Given the description of an element on the screen output the (x, y) to click on. 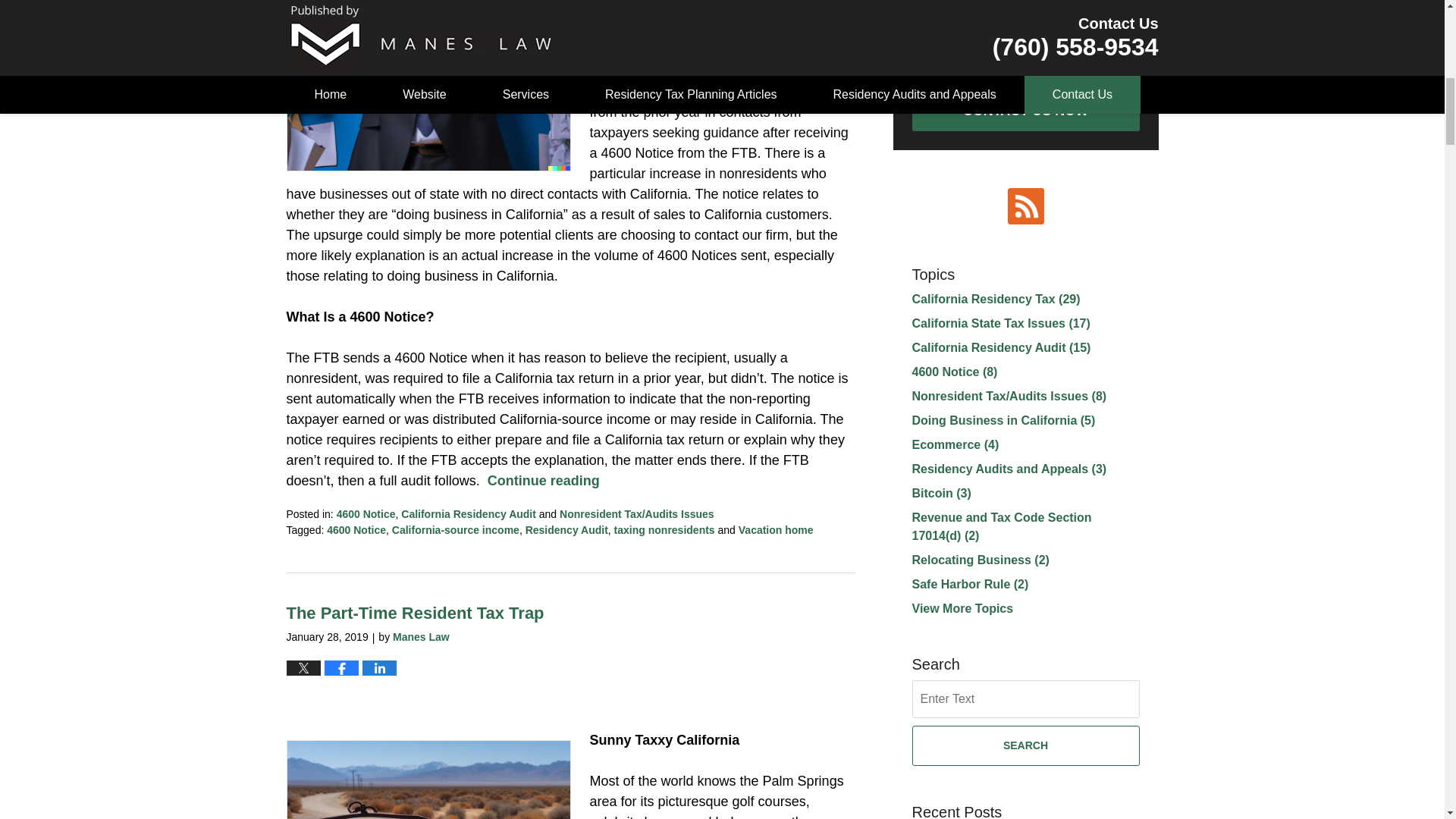
View all posts tagged with taxing nonresidents (664, 530)
4600 Notice (366, 513)
Vacation home (775, 530)
The Part-Time Resident Tax Trap (415, 612)
View all posts tagged with Residency Audit (566, 530)
California Residency Audit (468, 513)
Permalink to The Part-Time Resident Tax Trap (415, 612)
Continue reading (543, 480)
View all posts in 4600 Notice (366, 513)
4600 Notice (355, 530)
Residency Audit (566, 530)
California-source income (455, 530)
Manes Law (421, 636)
View all posts tagged with California-source income (455, 530)
View all posts tagged with 4600 Notice (355, 530)
